Given the description of an element on the screen output the (x, y) to click on. 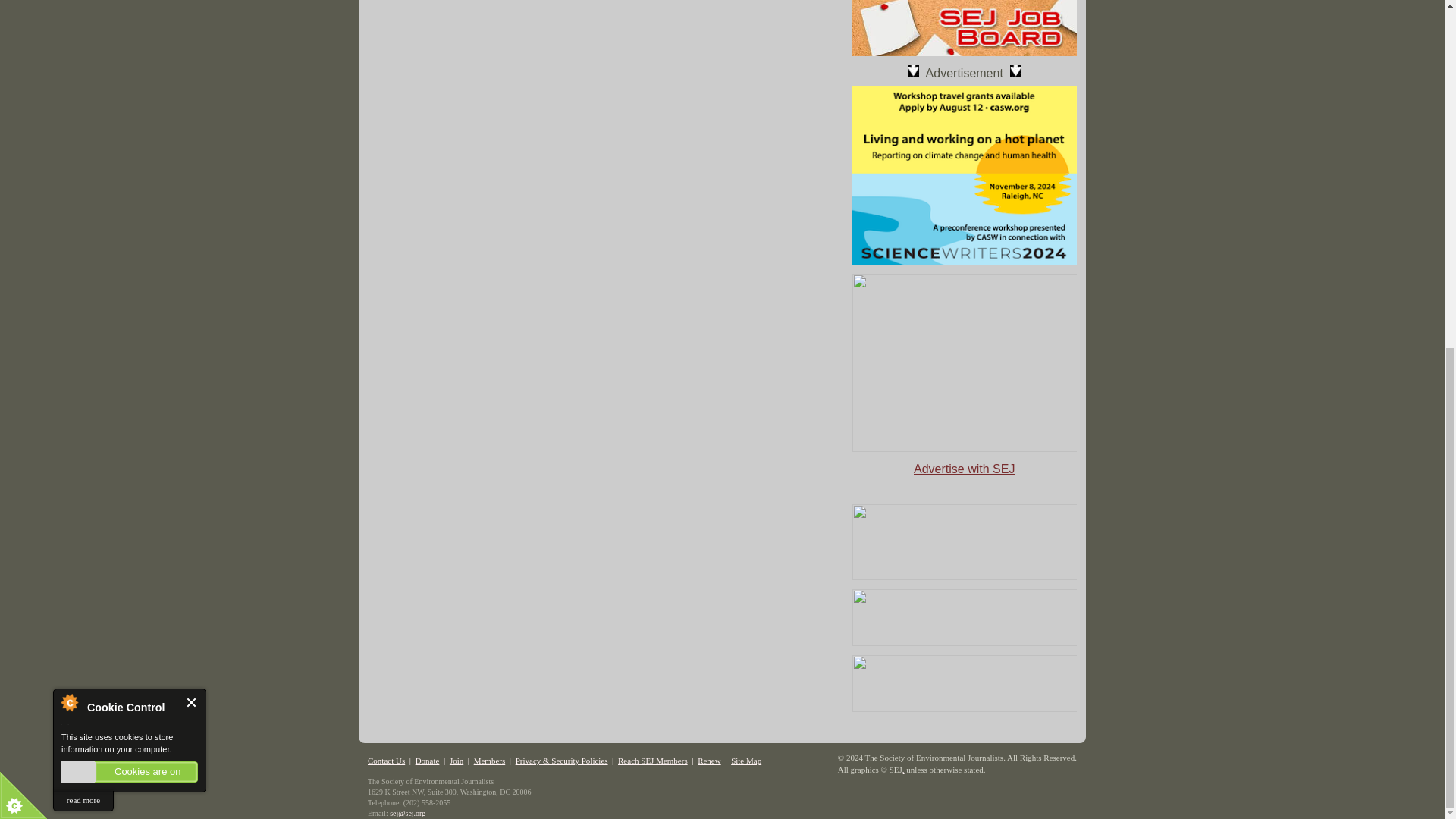
read more (82, 200)
Cookies are on (129, 171)
Close (191, 102)
